Given the description of an element on the screen output the (x, y) to click on. 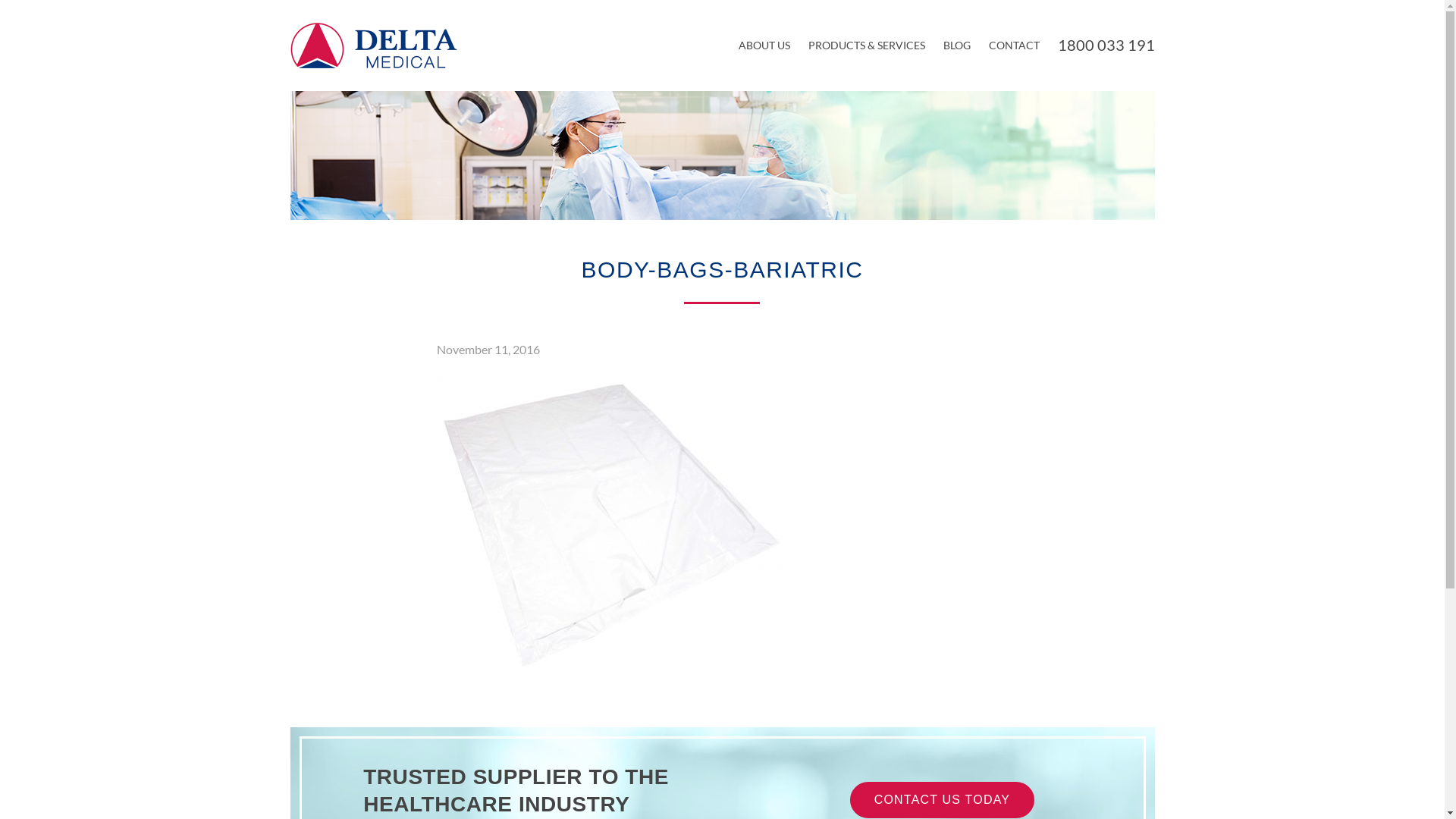
Skip to primary navigation Element type: text (0, 0)
CONTACT US TODAY Element type: text (942, 799)
CONTACT Element type: text (1013, 45)
BLOG Element type: text (956, 45)
Delta Medical Element type: text (372, 45)
PRODUCTS & SERVICES Element type: text (866, 45)
ABOUT US Element type: text (764, 45)
1800 033 191 Element type: text (1105, 44)
